Given the description of an element on the screen output the (x, y) to click on. 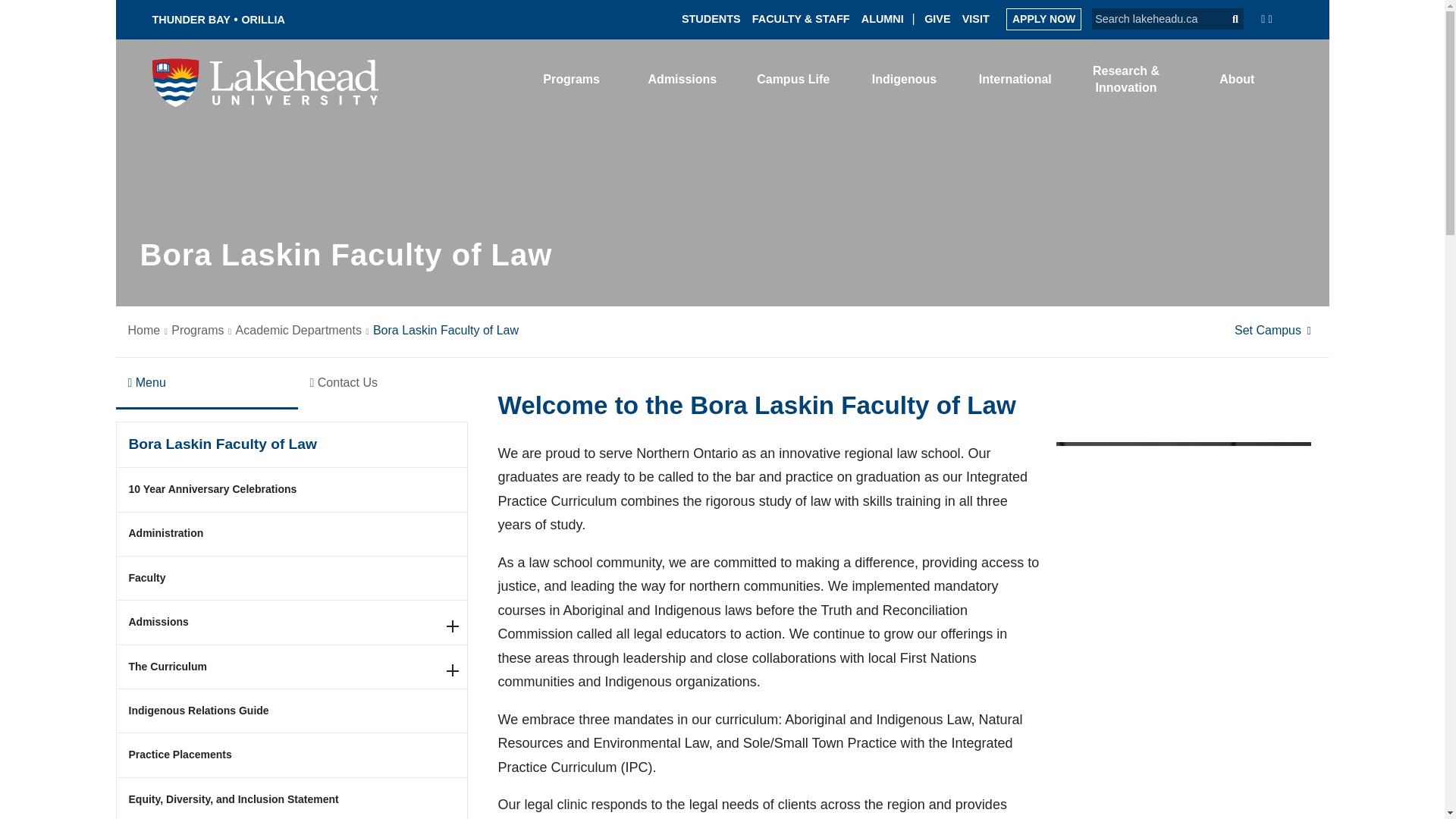
Log in to myCourseLink (1140, 80)
Change Campus Preference (1275, 329)
APPLY NOW (1043, 19)
GIVE (937, 18)
Programs (571, 79)
Search (1227, 18)
MYCOURSELINK (1140, 80)
VISIT (976, 18)
Enter the terms you wish to search for. (1152, 18)
Application Guide (1043, 19)
Support Lakehead University, make a Donation (937, 18)
THUNDER BAY (190, 19)
Log in to Romeo Research (869, 75)
Admissions (681, 79)
Return to the Lakehead University home page (264, 81)
